Given the description of an element on the screen output the (x, y) to click on. 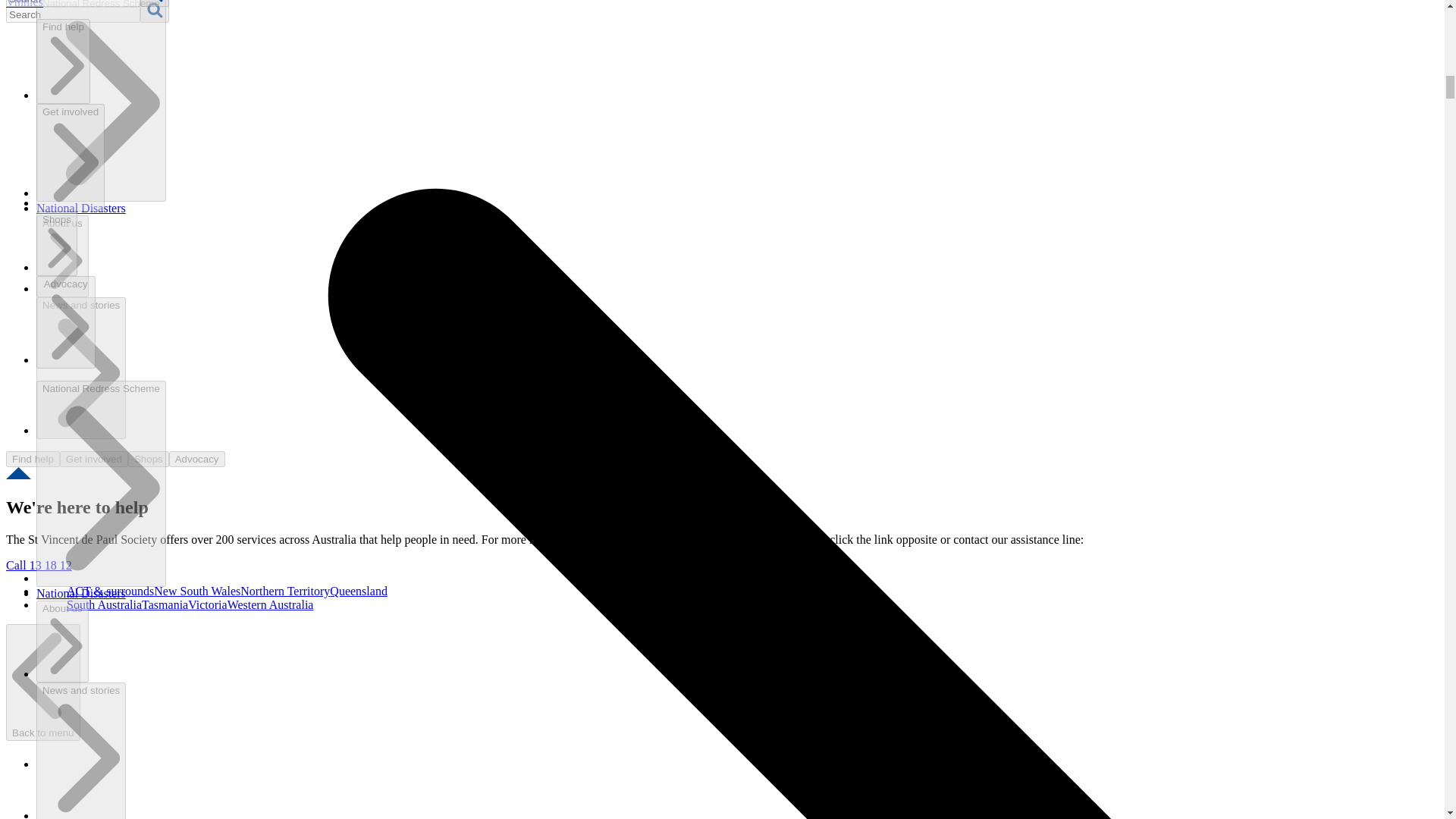
Shops (56, 243)
Advocacy (66, 322)
National Redress Scheme (100, 483)
Find help (63, 61)
National Disasters (80, 593)
Call 13 18 12 (38, 564)
Get involved (70, 158)
